Given the description of an element on the screen output the (x, y) to click on. 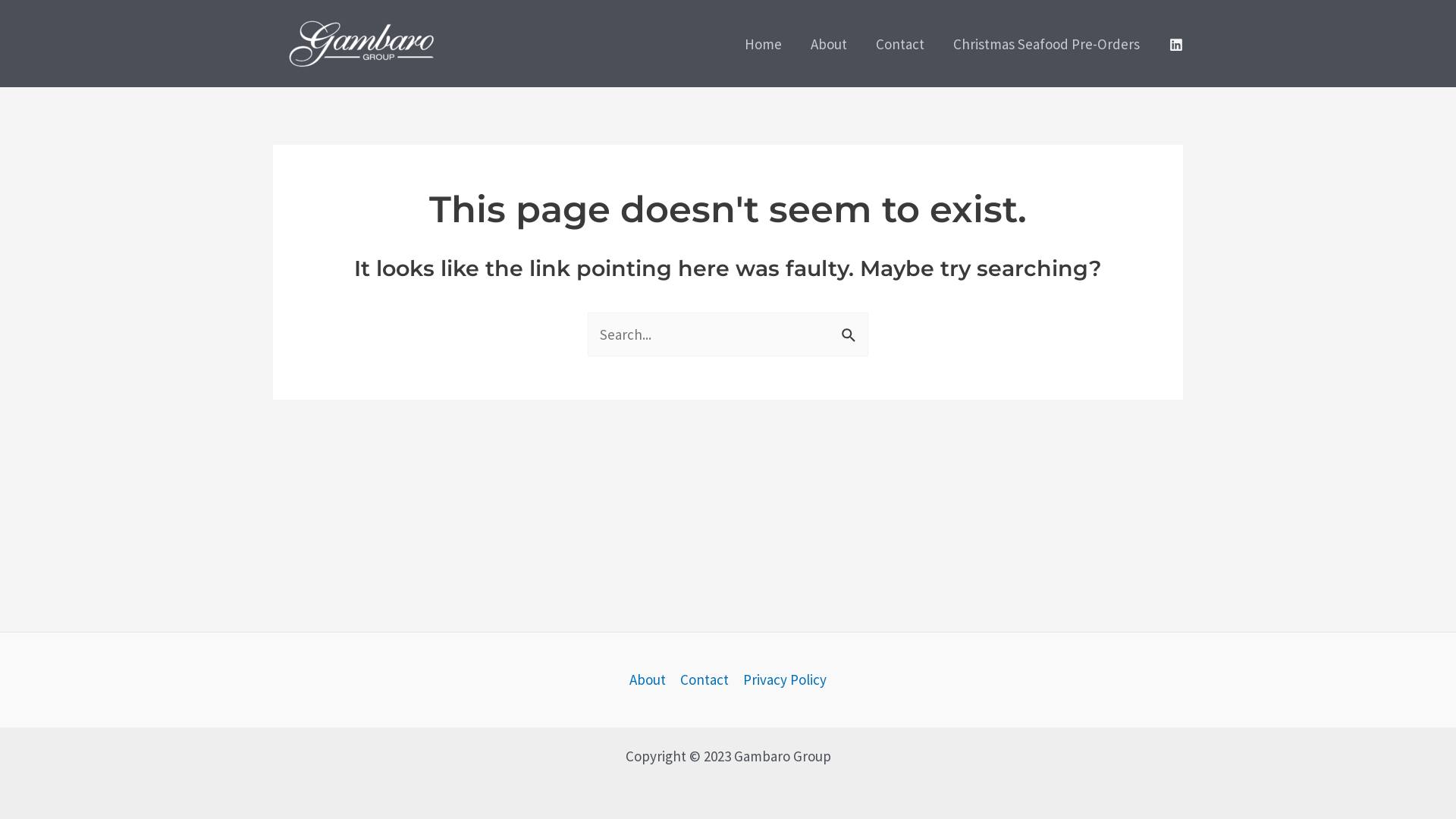
Home Element type: text (763, 42)
About Element type: text (651, 679)
Contact Element type: text (703, 679)
Contact Element type: text (899, 42)
Search Element type: text (851, 329)
Privacy Policy Element type: text (780, 679)
Christmas Seafood Pre-Orders Element type: text (1046, 42)
About Element type: text (828, 42)
